Given the description of an element on the screen output the (x, y) to click on. 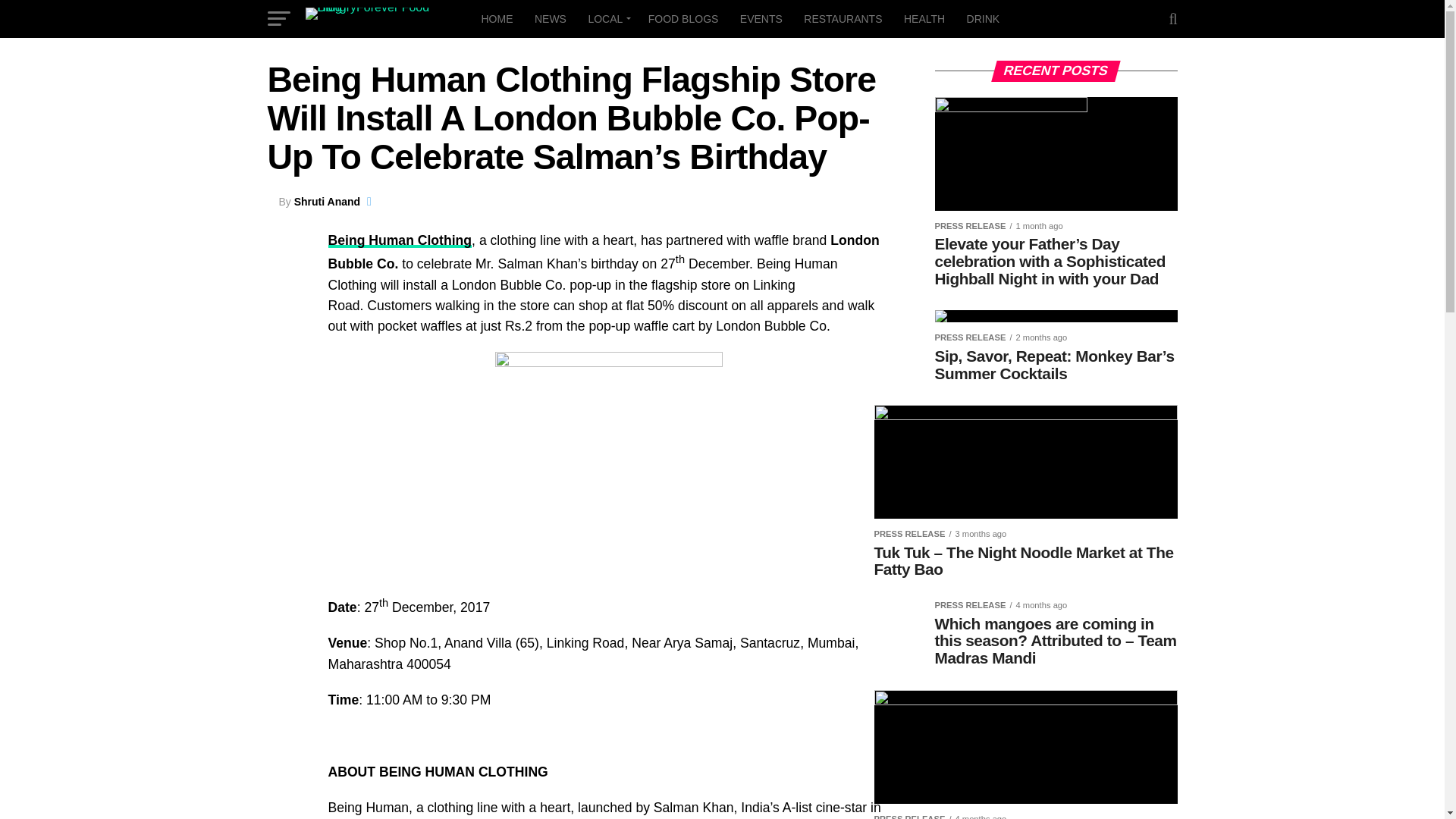
HOME (496, 18)
Being Human Clothing (399, 240)
FOOD BLOGS (683, 18)
HEALTH (924, 18)
NEWS (550, 18)
Shruti Anand (326, 201)
RESTAURANTS (842, 18)
EVENTS (761, 18)
LOCAL (606, 18)
Posts by Shruti Anand (326, 201)
DRINK (983, 18)
